Given the description of an element on the screen output the (x, y) to click on. 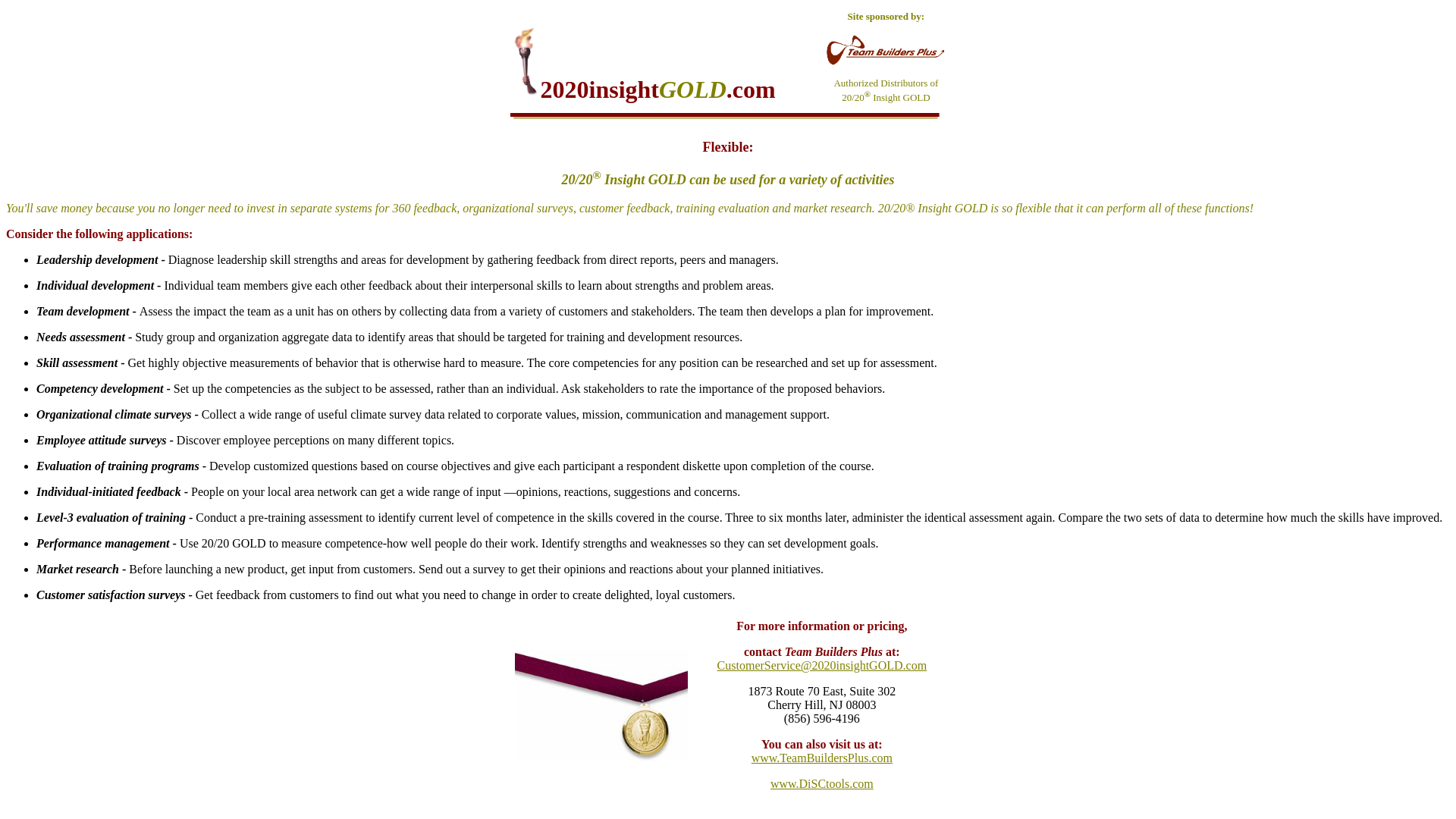
CustomerService@2020insightGOLD.com Element type: text (821, 664)
www.TeamBuildersPlus.com Element type: text (821, 757)
www.DiSCtools.com Element type: text (821, 783)
